Given the description of an element on the screen output the (x, y) to click on. 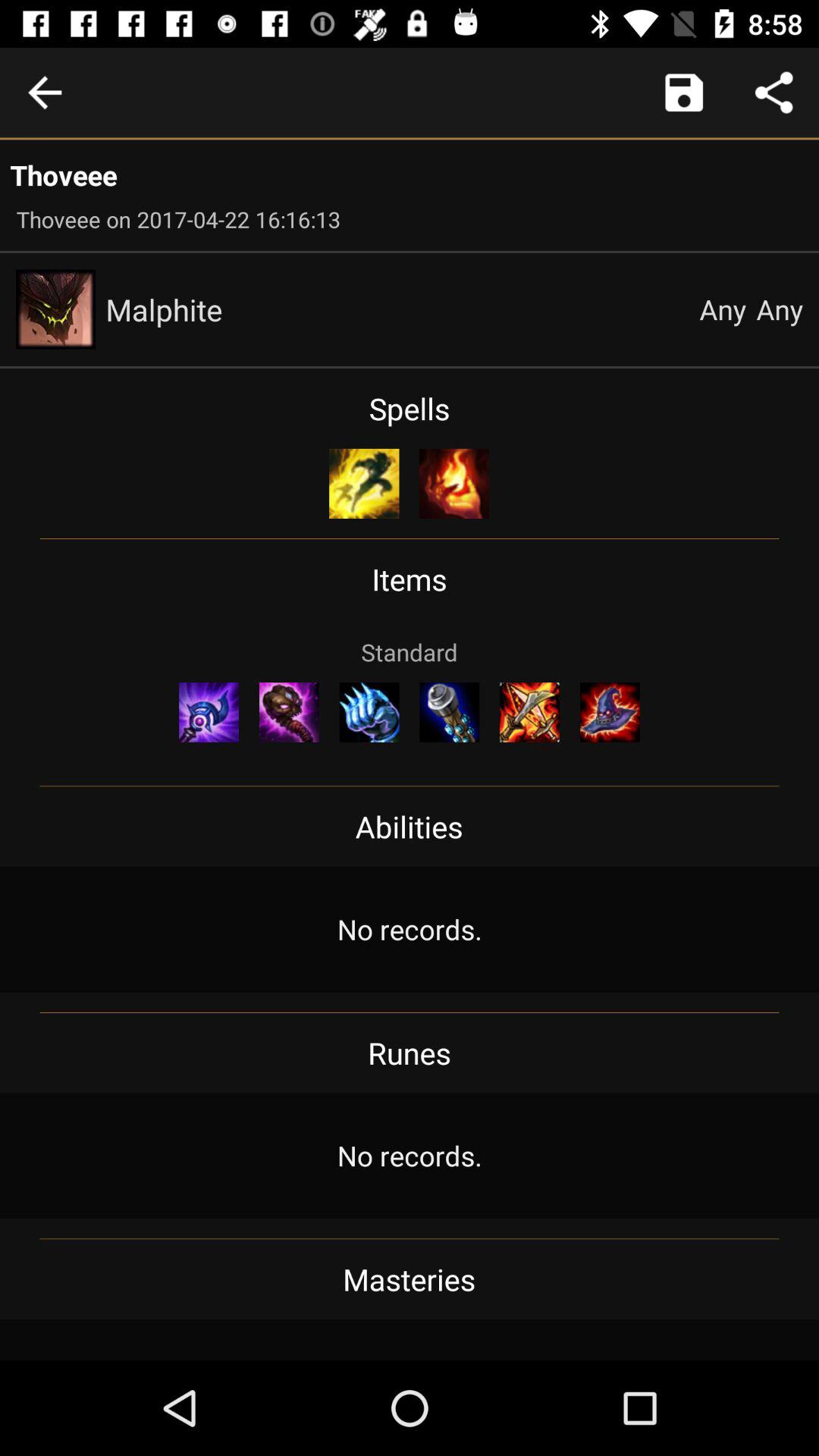
share the page (774, 92)
